Given the description of an element on the screen output the (x, y) to click on. 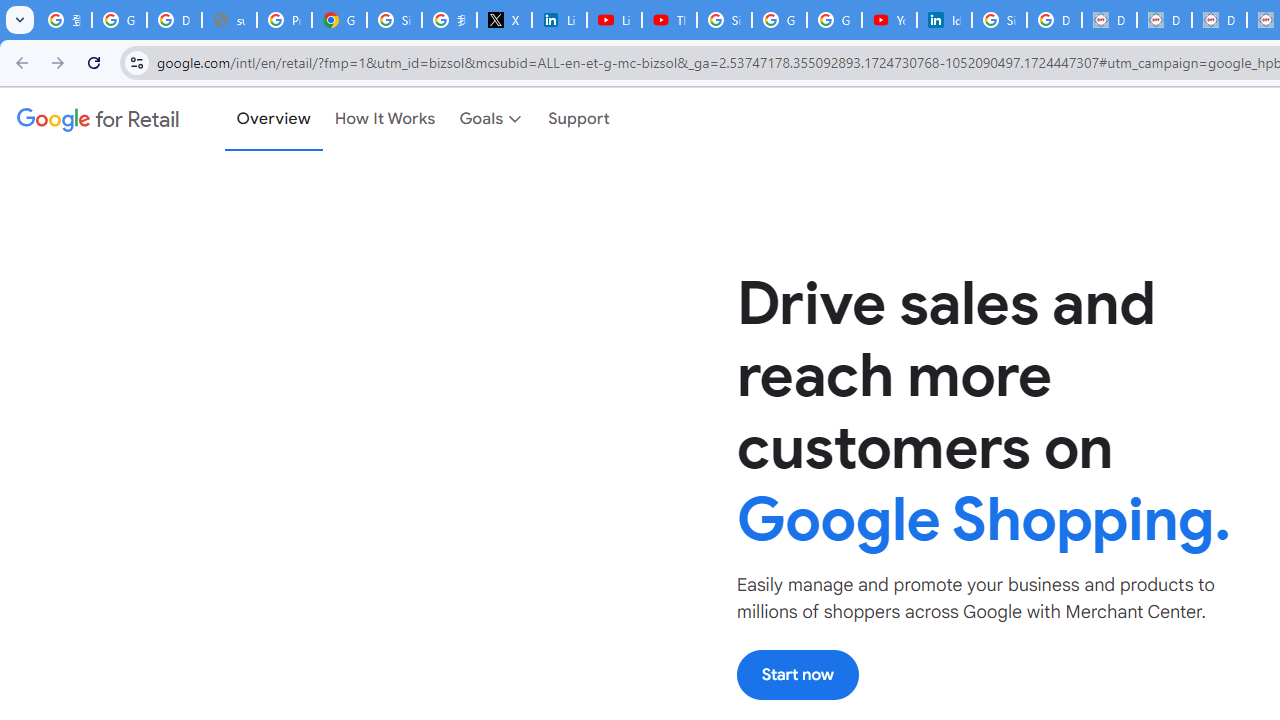
Privacy Help Center - Policies Help (284, 20)
Sign in - Google Accounts (394, 20)
LinkedIn Privacy Policy (559, 20)
Identity verification via Persona | LinkedIn Help (943, 20)
How It Works (385, 119)
support.google.com - Network error (229, 20)
Data Privacy Framework (1163, 20)
